Given the description of an element on the screen output the (x, y) to click on. 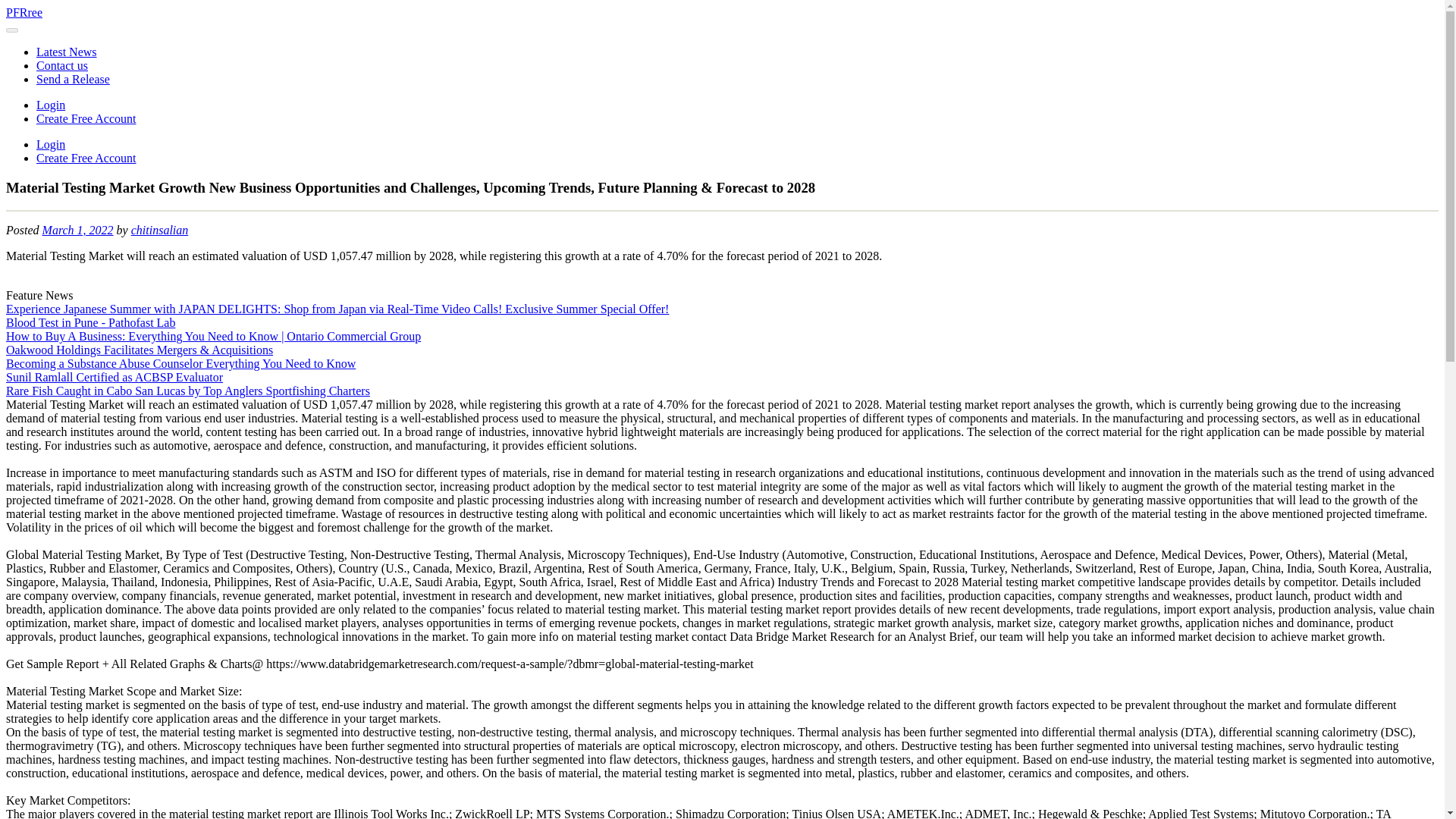
Latest News (66, 51)
Contact us (61, 65)
March 1, 2022 (77, 229)
Send a Release (73, 78)
Blood Test in Pune - Pathofast Lab (89, 322)
PFRree (23, 11)
chitinsalian (160, 229)
Sunil Ramlall Certified as ACBSP Evaluator (113, 377)
Login (50, 144)
Login (50, 104)
Create Free Account (86, 157)
Create Free Account (86, 118)
